Given the description of an element on the screen output the (x, y) to click on. 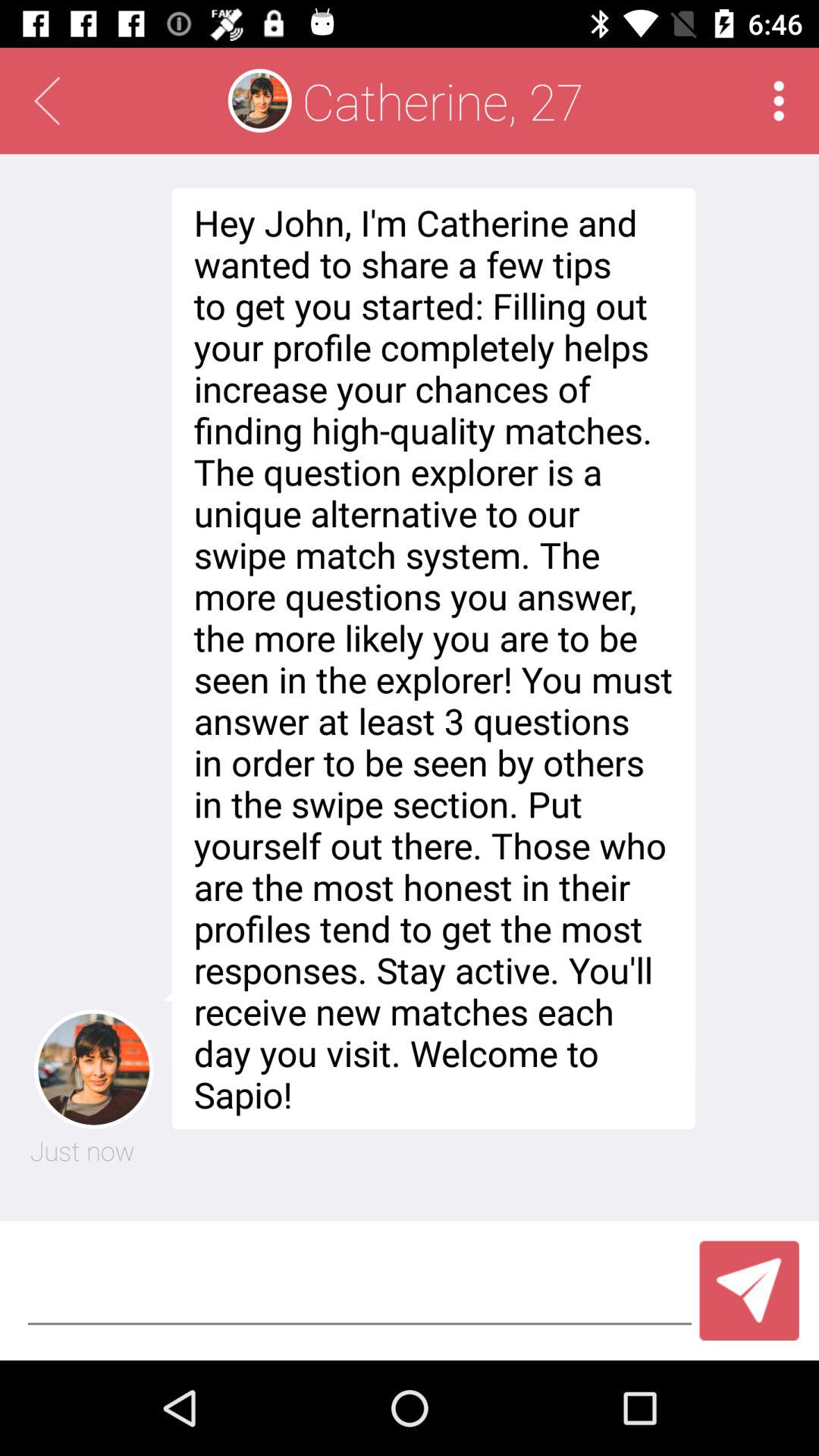
turn off the item to the right of the catherine, 27 app (778, 100)
